Given the description of an element on the screen output the (x, y) to click on. 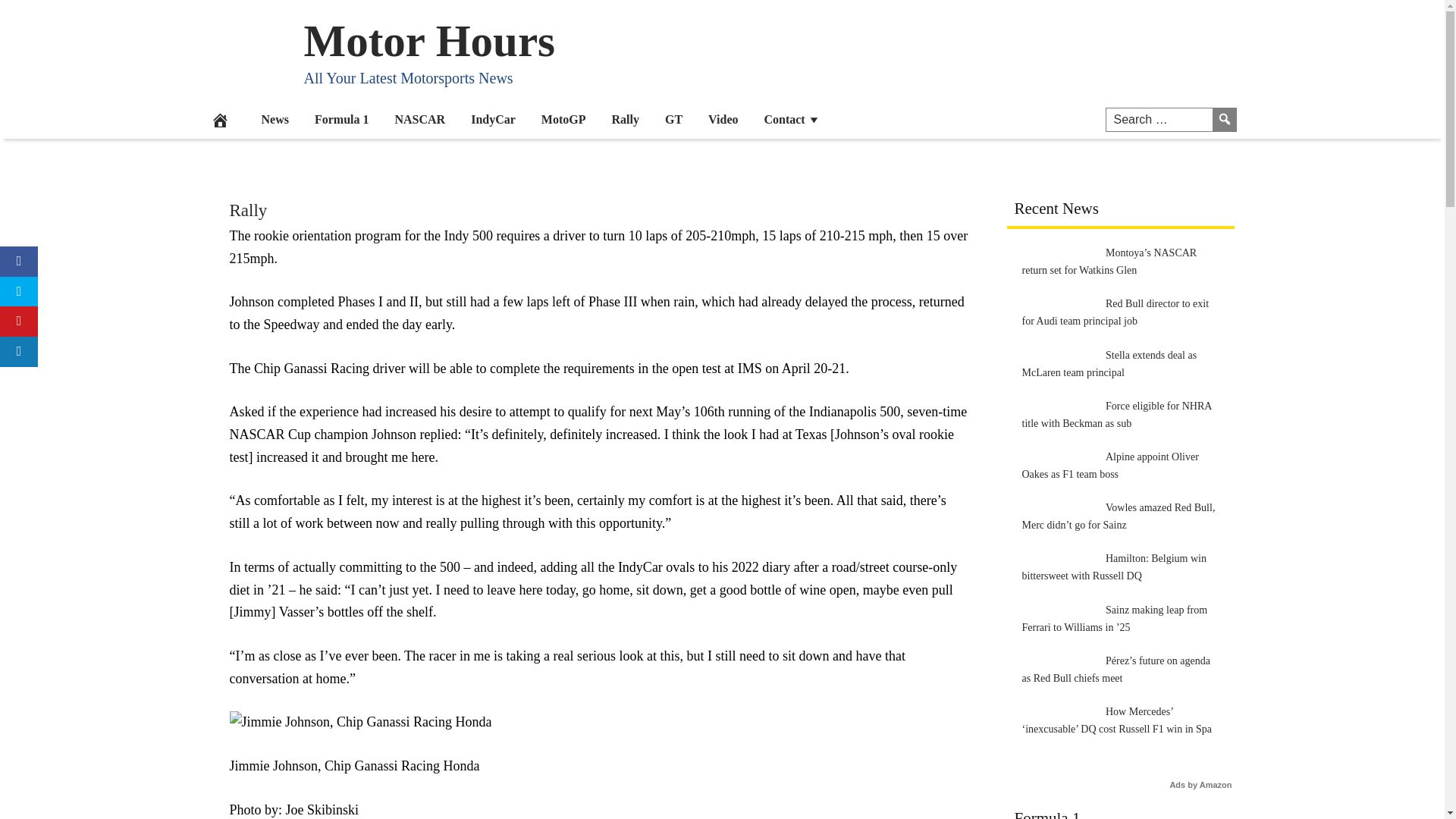
Rally (247, 210)
Motor Hours (428, 40)
IndyCar (493, 118)
Contact (791, 118)
GT (673, 118)
Formula 1 (341, 118)
Video (723, 118)
NASCAR (419, 118)
News (274, 118)
MotoGP (563, 118)
